Given the description of an element on the screen output the (x, y) to click on. 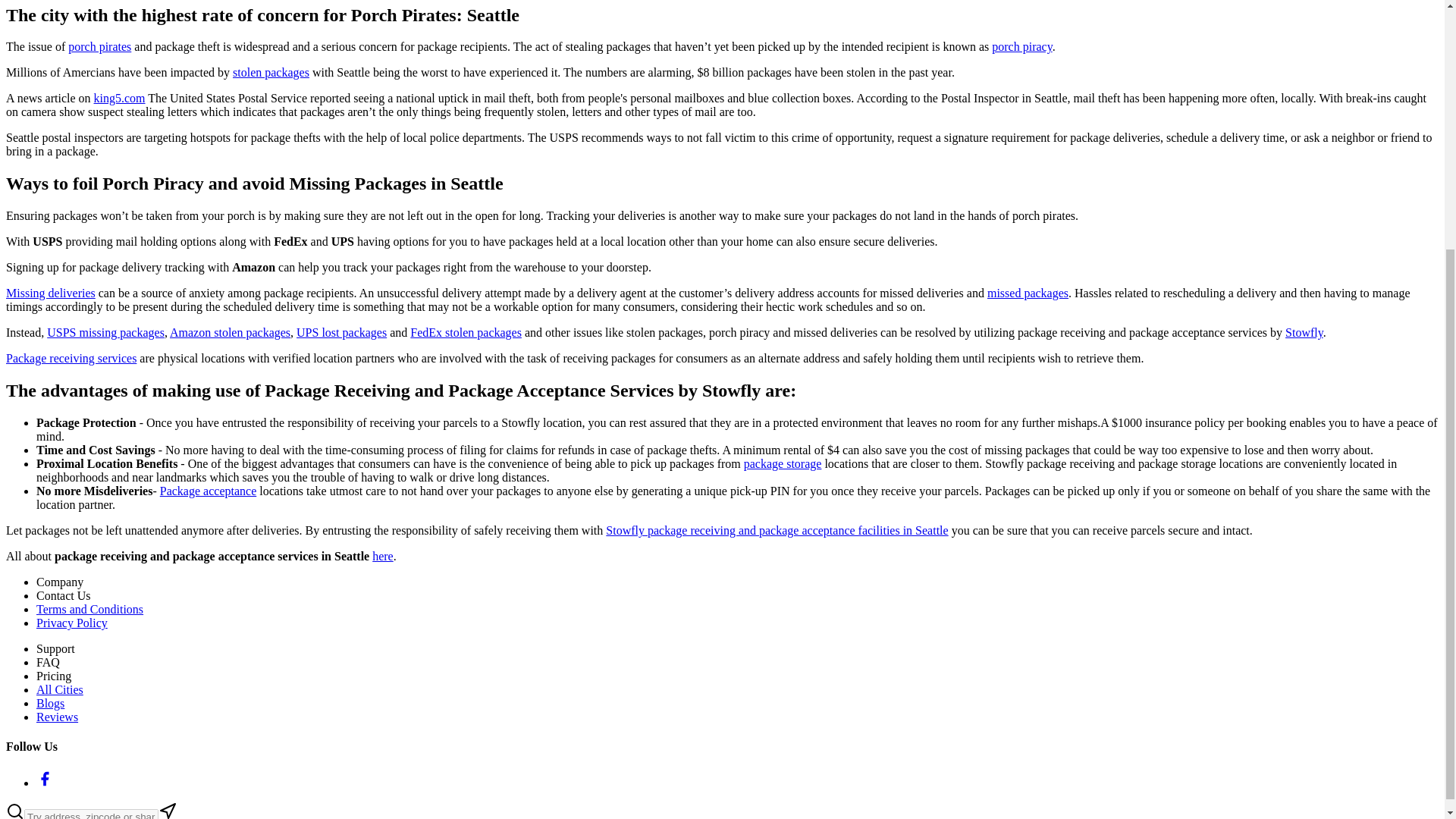
package storage (783, 463)
missed packages (1027, 292)
UPS lost packages (342, 332)
Pricing (53, 675)
Privacy Policy (71, 622)
All Cities (59, 689)
Contact Us (63, 594)
Terms and Conditions (89, 608)
Package acceptance (208, 490)
porch pirates (99, 46)
FedEx stolen packages (465, 332)
FAQ (47, 662)
stolen packages (270, 72)
porch piracy (1021, 46)
Blogs (50, 703)
